Given the description of an element on the screen output the (x, y) to click on. 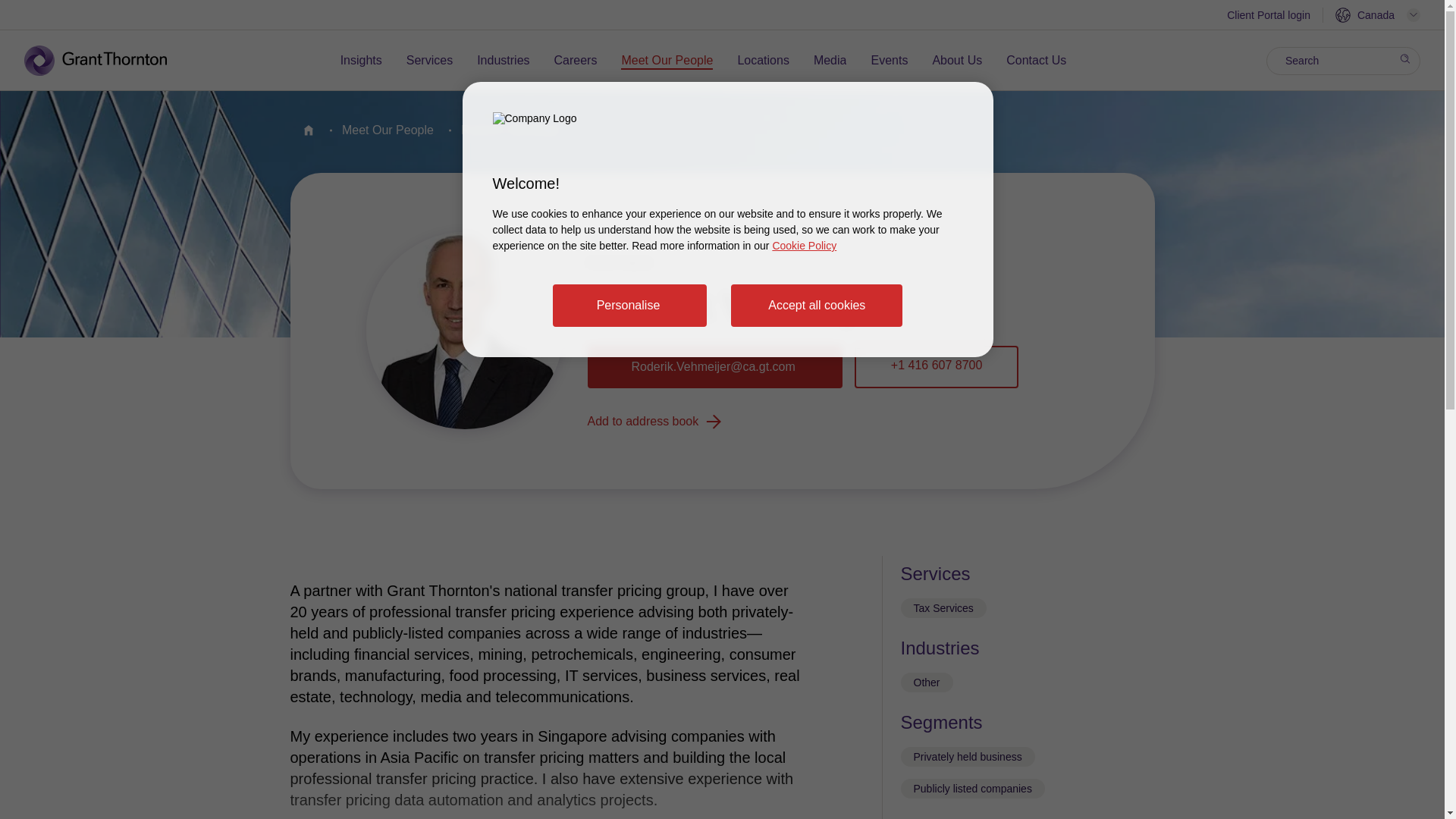
Canada (1378, 14)
Locations (762, 60)
logo (105, 60)
External link - open a new window - Client Portal login (1268, 17)
About Us (956, 60)
Client Portal login (1268, 17)
Meet Our People (667, 60)
Media (830, 60)
Careers (575, 60)
Explore the Grant Thornton network (1378, 14)
